Given the description of an element on the screen output the (x, y) to click on. 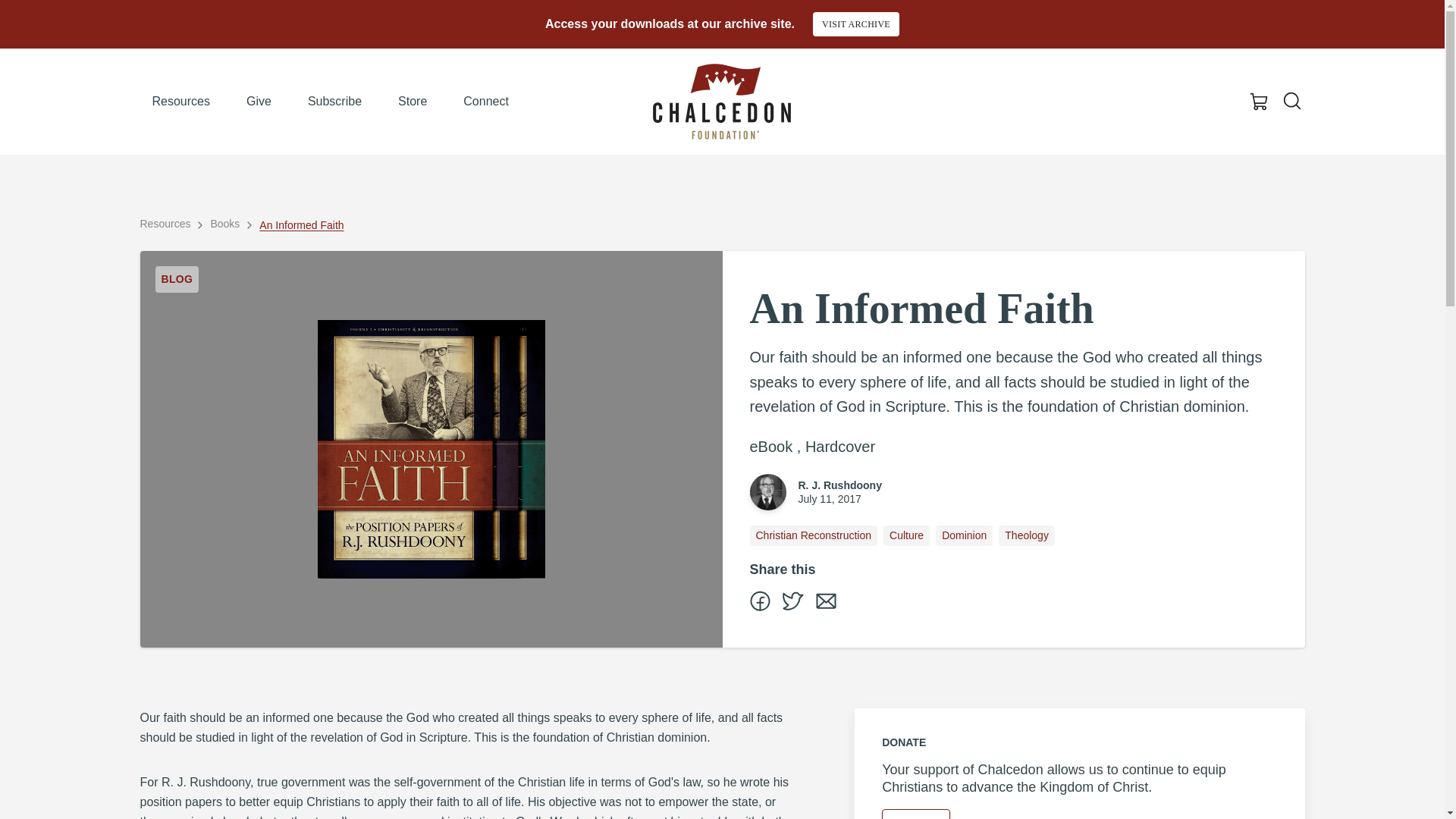
Give (258, 101)
An Informed Faith (301, 224)
Connect (486, 101)
Christian Reconstruction (813, 535)
Store (412, 101)
Books (224, 223)
Resources (180, 101)
Resources (164, 223)
Donate (916, 814)
Culture (906, 535)
View Cart (1258, 101)
Theology (1026, 535)
VISIT ARCHIVE (855, 24)
Chalcedon (721, 101)
Subscribe (334, 101)
